Given the description of an element on the screen output the (x, y) to click on. 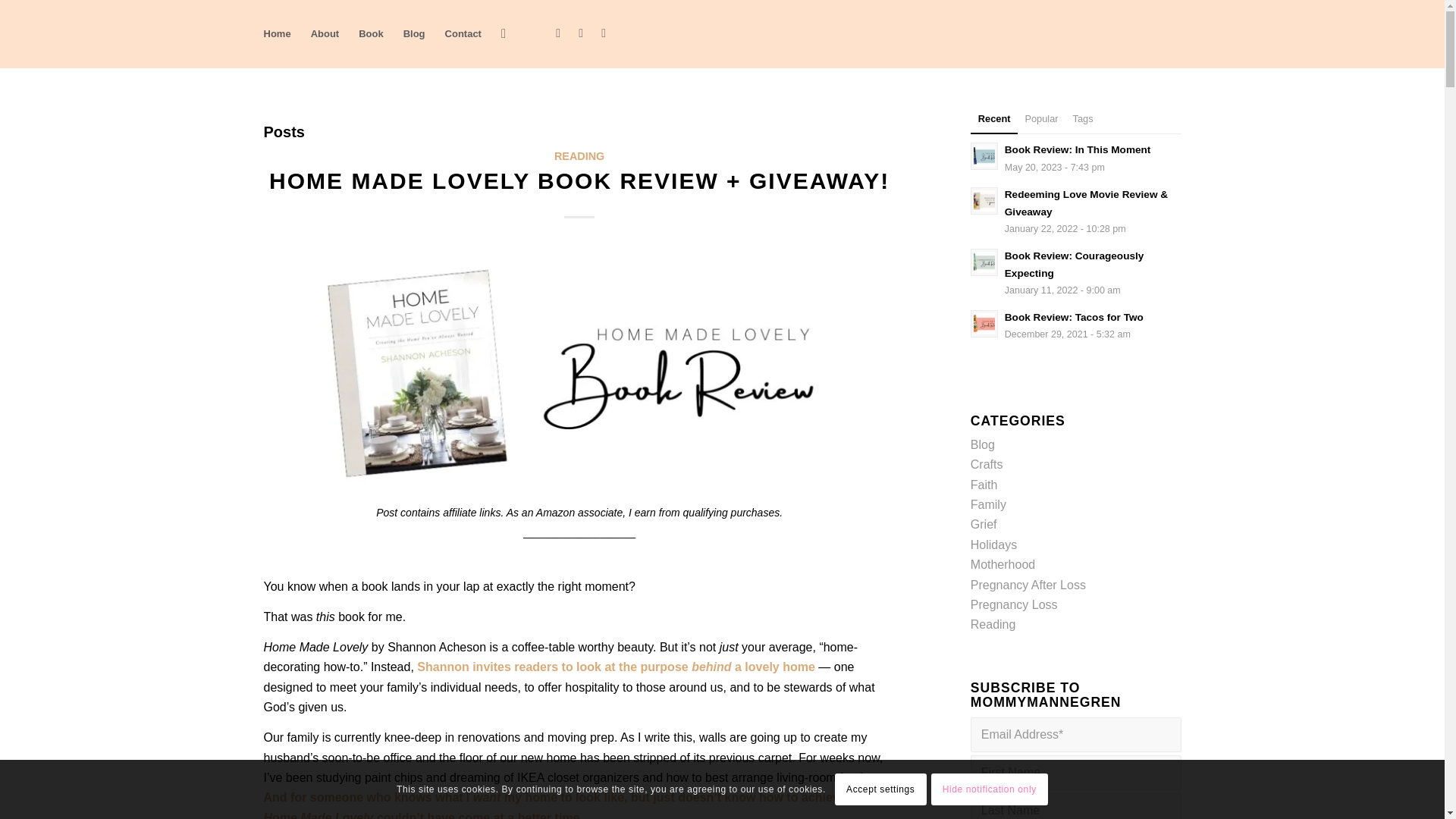
Instagram (580, 33)
READING (579, 155)
Pinterest (603, 33)
Facebook (558, 33)
